Given the description of an element on the screen output the (x, y) to click on. 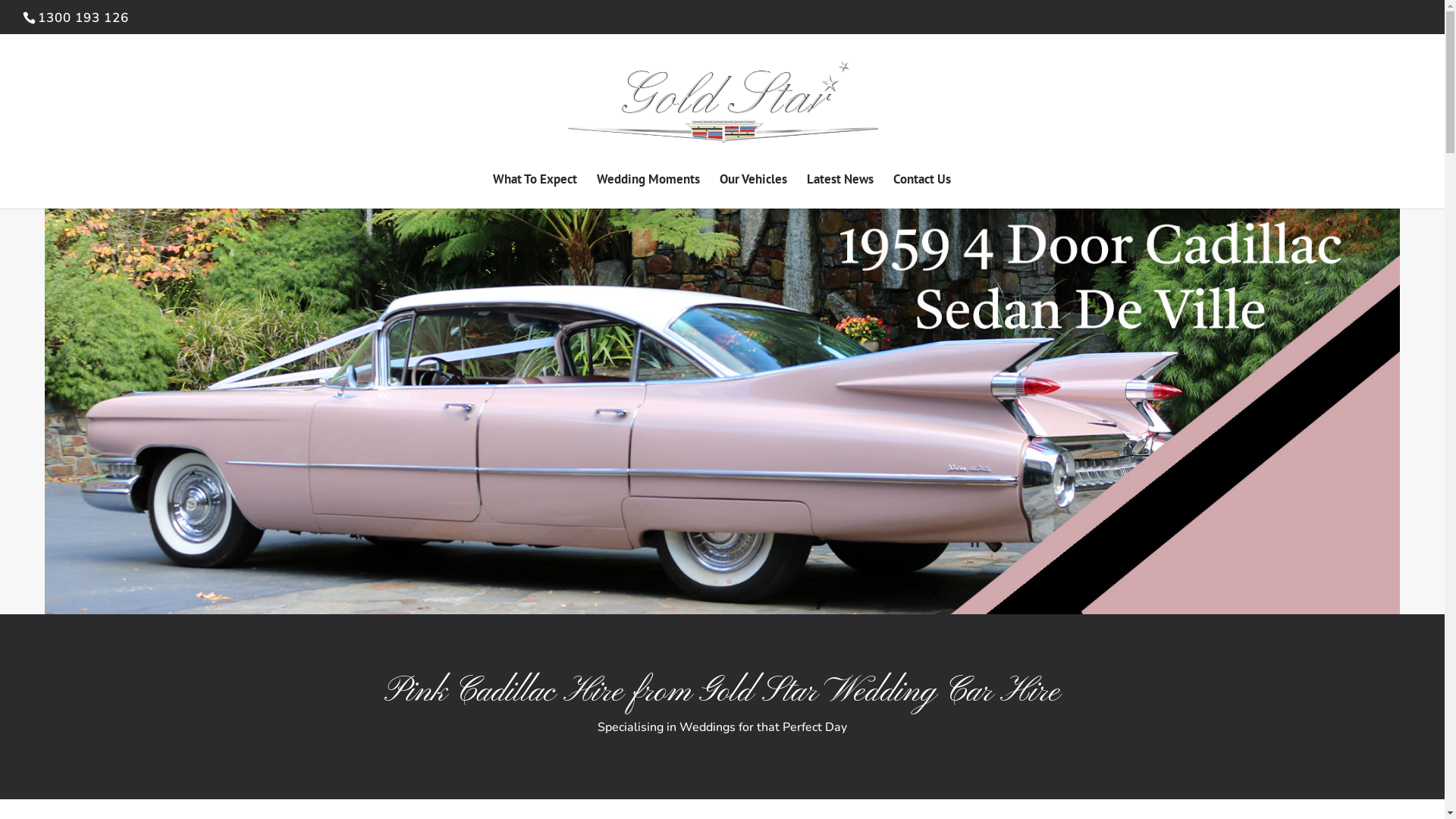
Contact Us Element type: text (921, 189)
2 Element type: text (728, 580)
Latest News Element type: text (839, 189)
Wedding Moments Element type: text (647, 189)
Our Vehicles Element type: text (752, 189)
What To Expect Element type: text (534, 189)
1 Element type: text (715, 580)
